Given the description of an element on the screen output the (x, y) to click on. 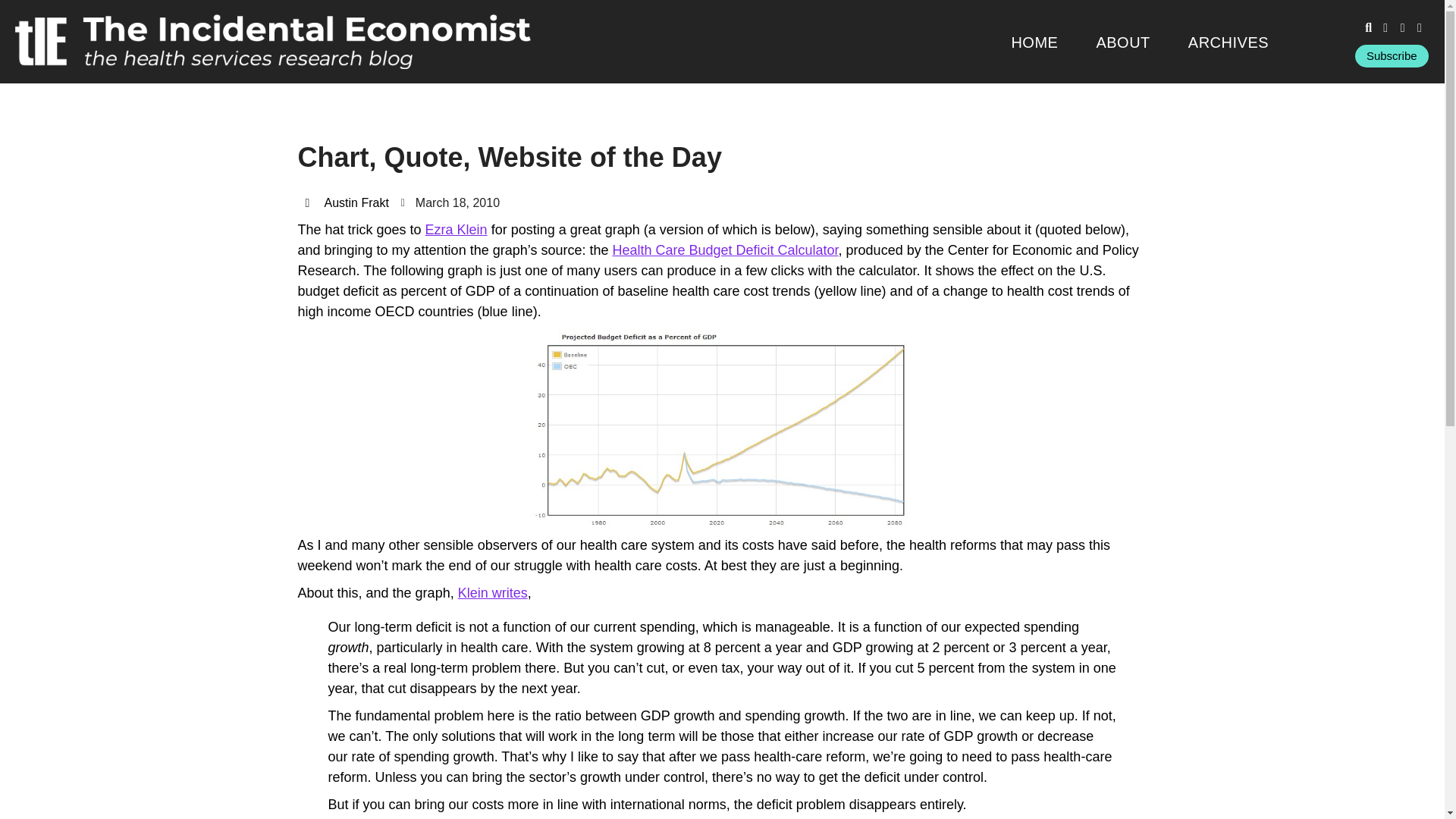
hc costs (721, 428)
HOME (1034, 41)
Ezra Klein (456, 229)
March 18, 2010 (450, 203)
ABOUT (1122, 41)
Health Care Budget Deficit Calculator (724, 249)
ARCHIVES (1228, 41)
Austin Frakt (346, 203)
Klein writes (492, 592)
Subscribe (1391, 56)
